Given the description of an element on the screen output the (x, y) to click on. 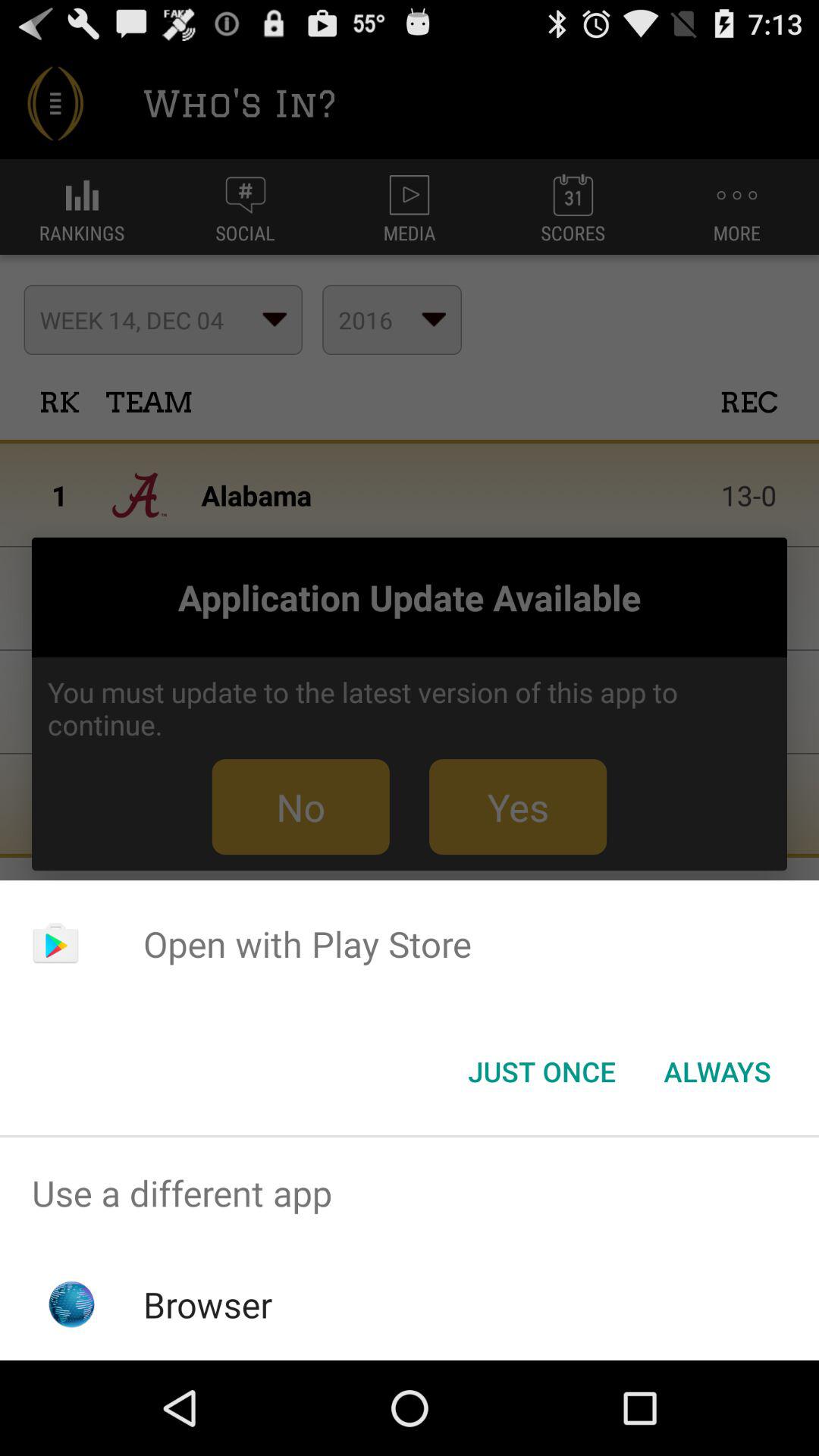
press the browser (207, 1304)
